Given the description of an element on the screen output the (x, y) to click on. 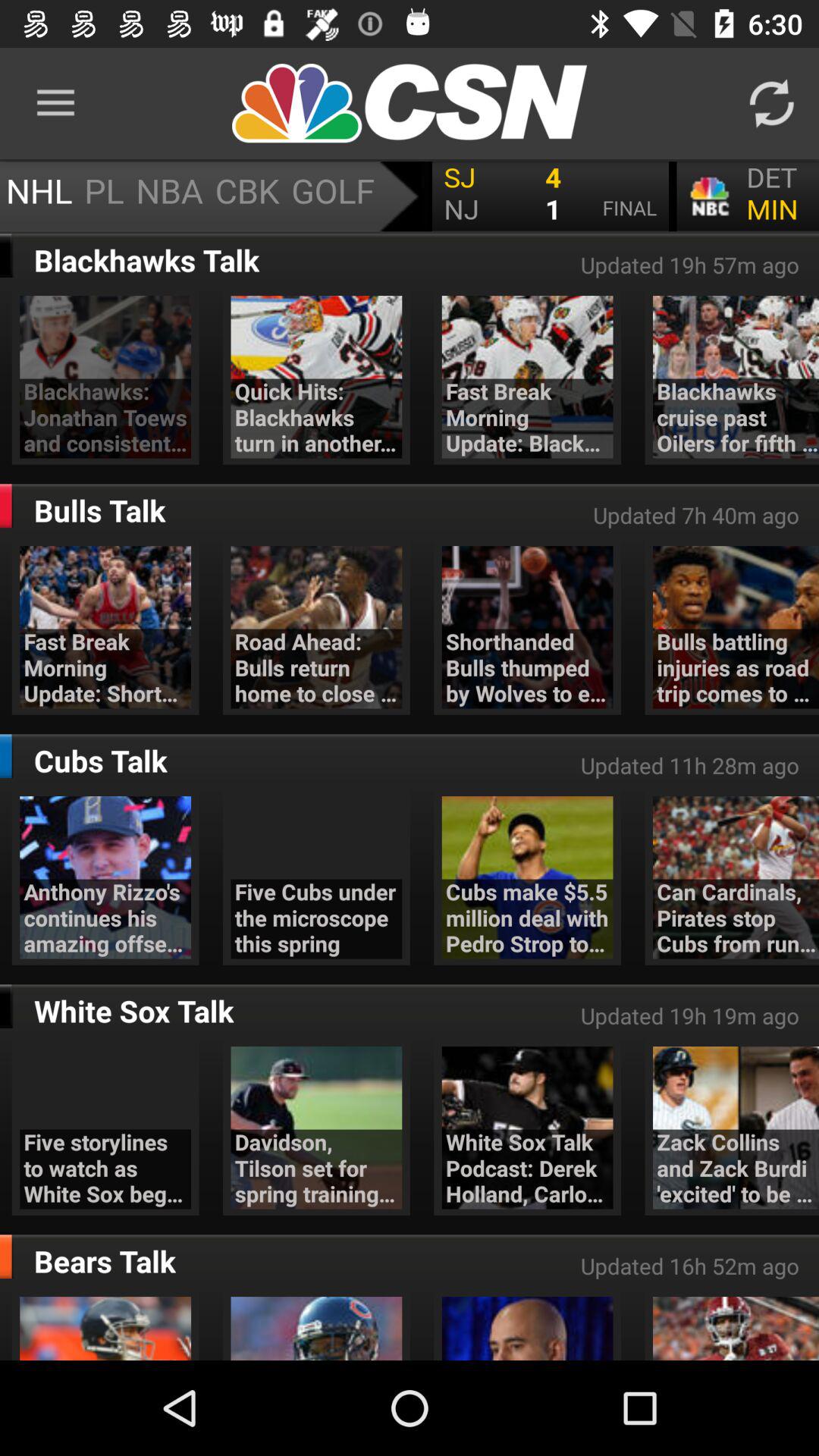
open scoreboard (409, 196)
